Given the description of an element on the screen output the (x, y) to click on. 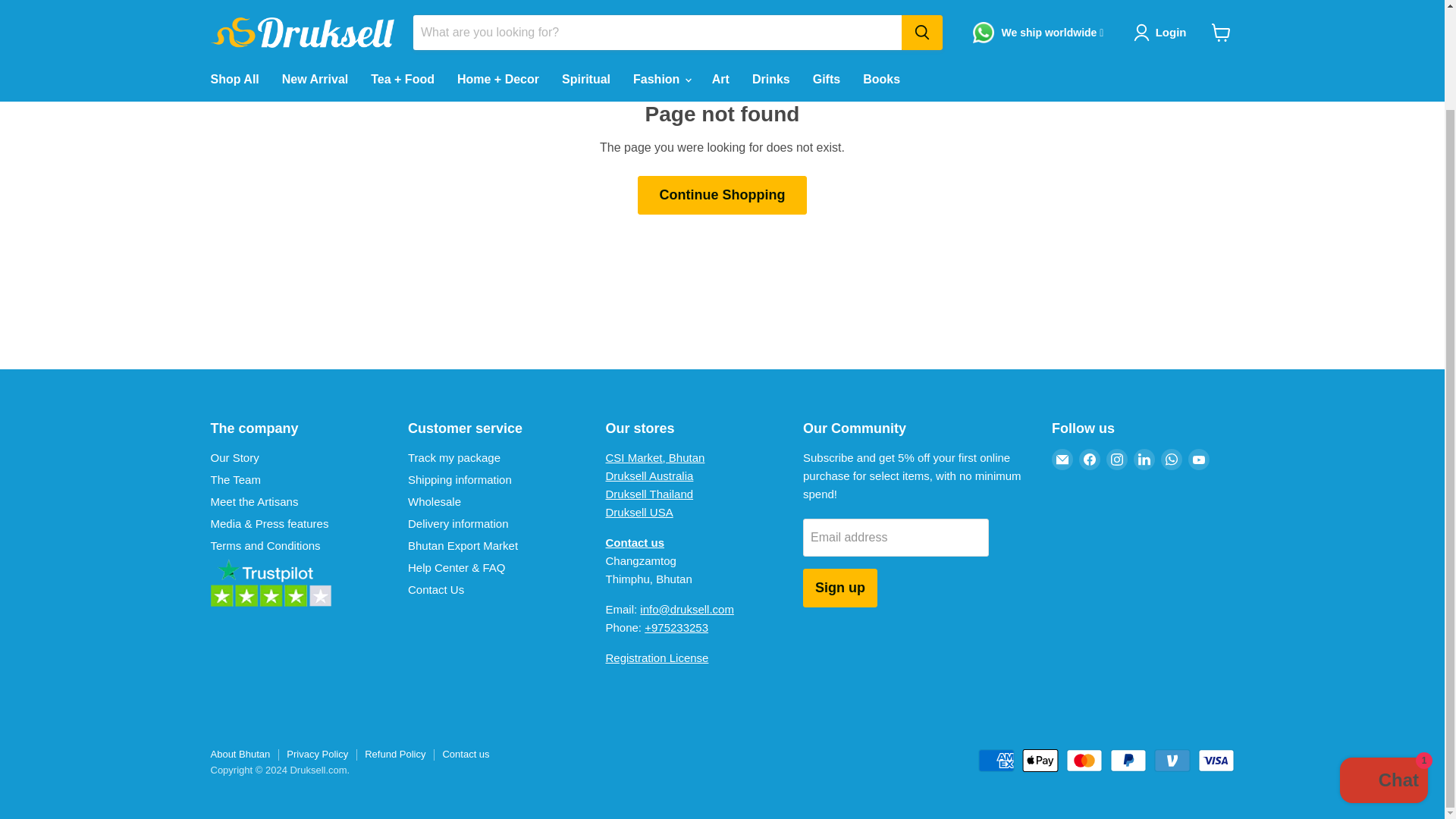
New Arrival (314, 10)
PayPal (1128, 760)
Shop All (233, 10)
American Express (996, 760)
Apple Pay (1040, 760)
Mastercard (1083, 760)
